Given the description of an element on the screen output the (x, y) to click on. 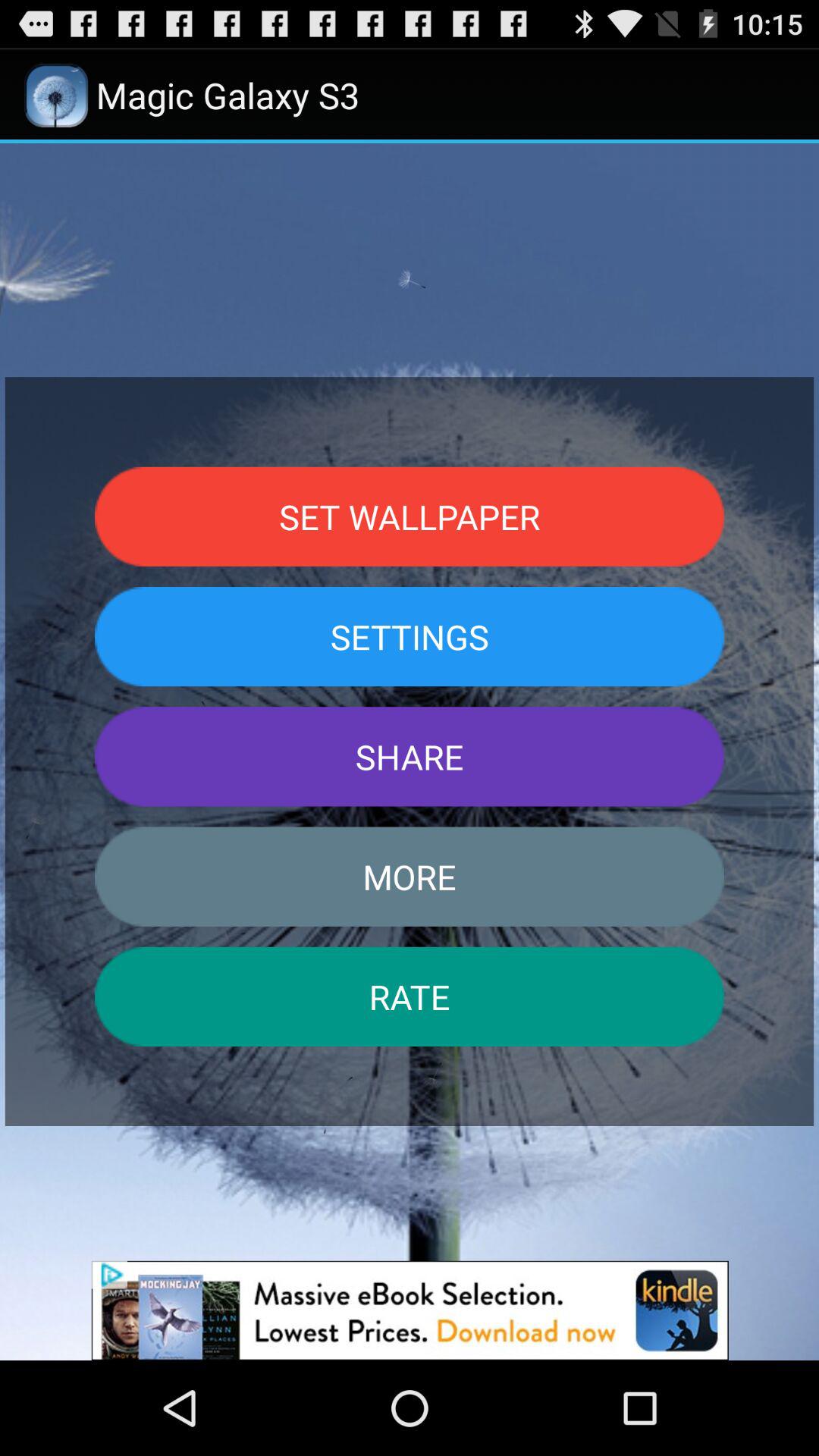
choose share icon (409, 756)
